Given the description of an element on the screen output the (x, y) to click on. 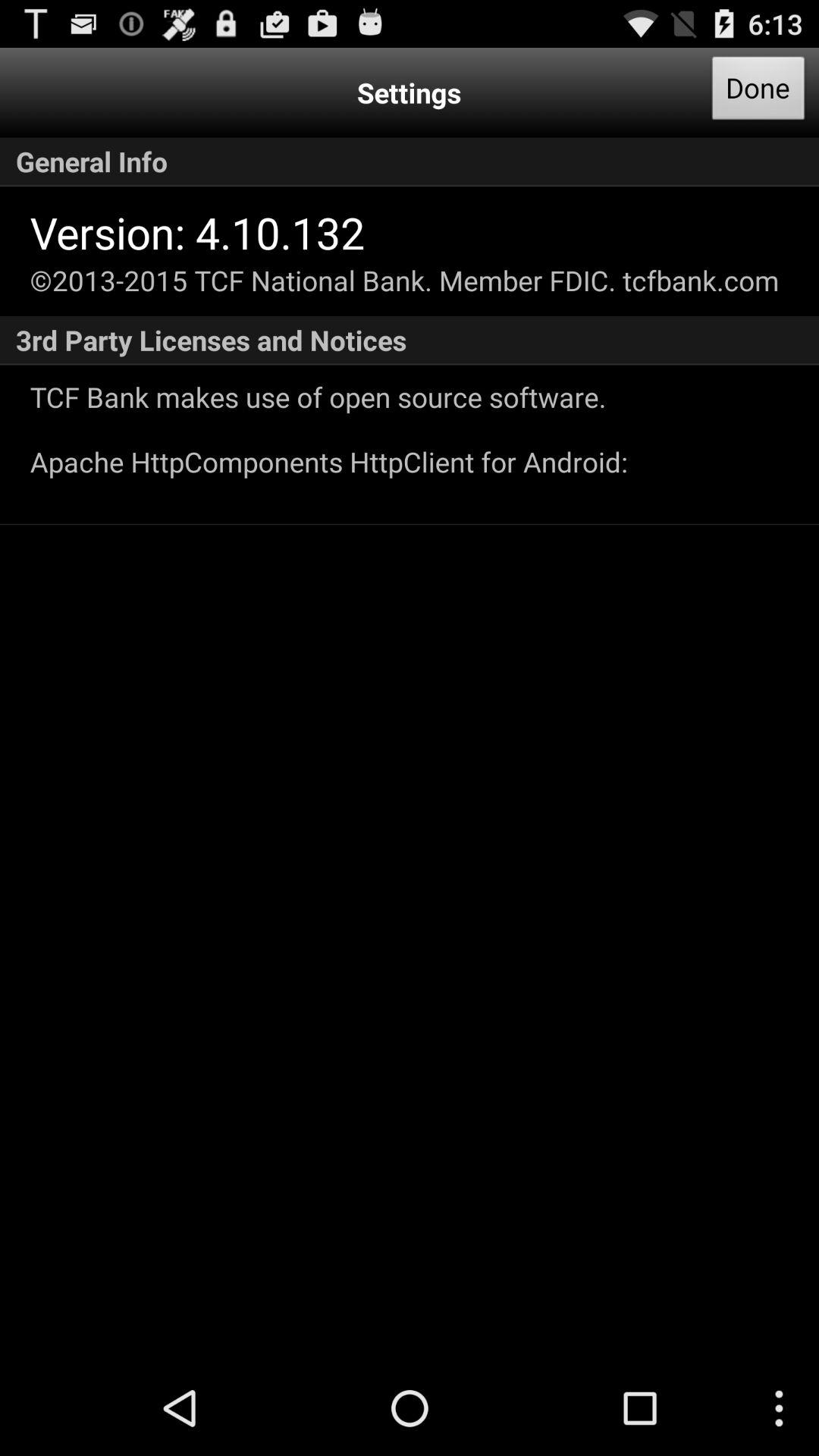
tap item above version 4 10 app (409, 161)
